Given the description of an element on the screen output the (x, y) to click on. 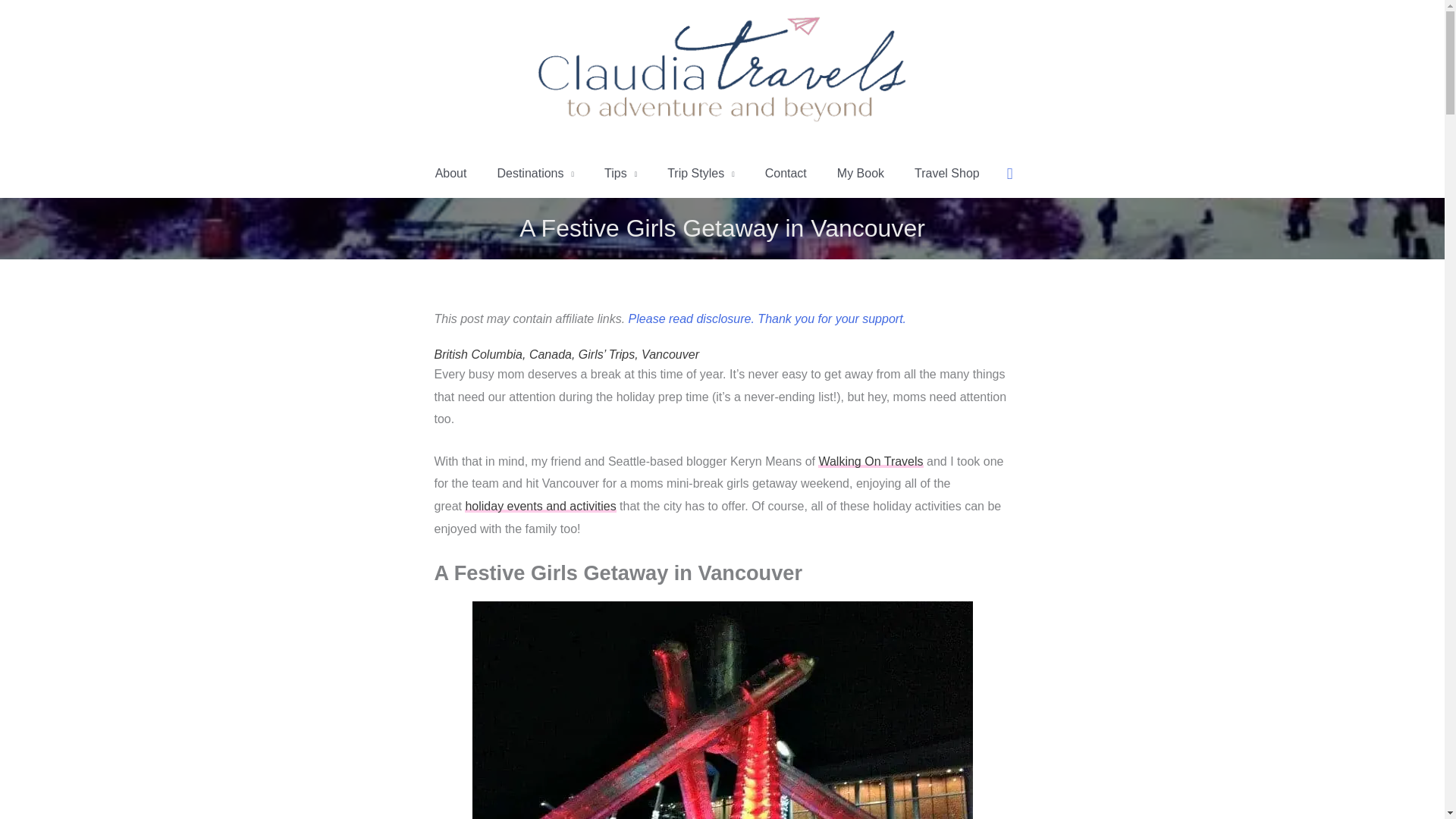
Tips (620, 173)
Destinations (535, 173)
Contact (785, 173)
Trip Styles (700, 173)
My Book (860, 173)
Travel Shop (946, 173)
Please read disclosure. Thank you for your support. (766, 318)
Canada (550, 354)
British Columbia (477, 354)
About (450, 173)
